Given the description of an element on the screen output the (x, y) to click on. 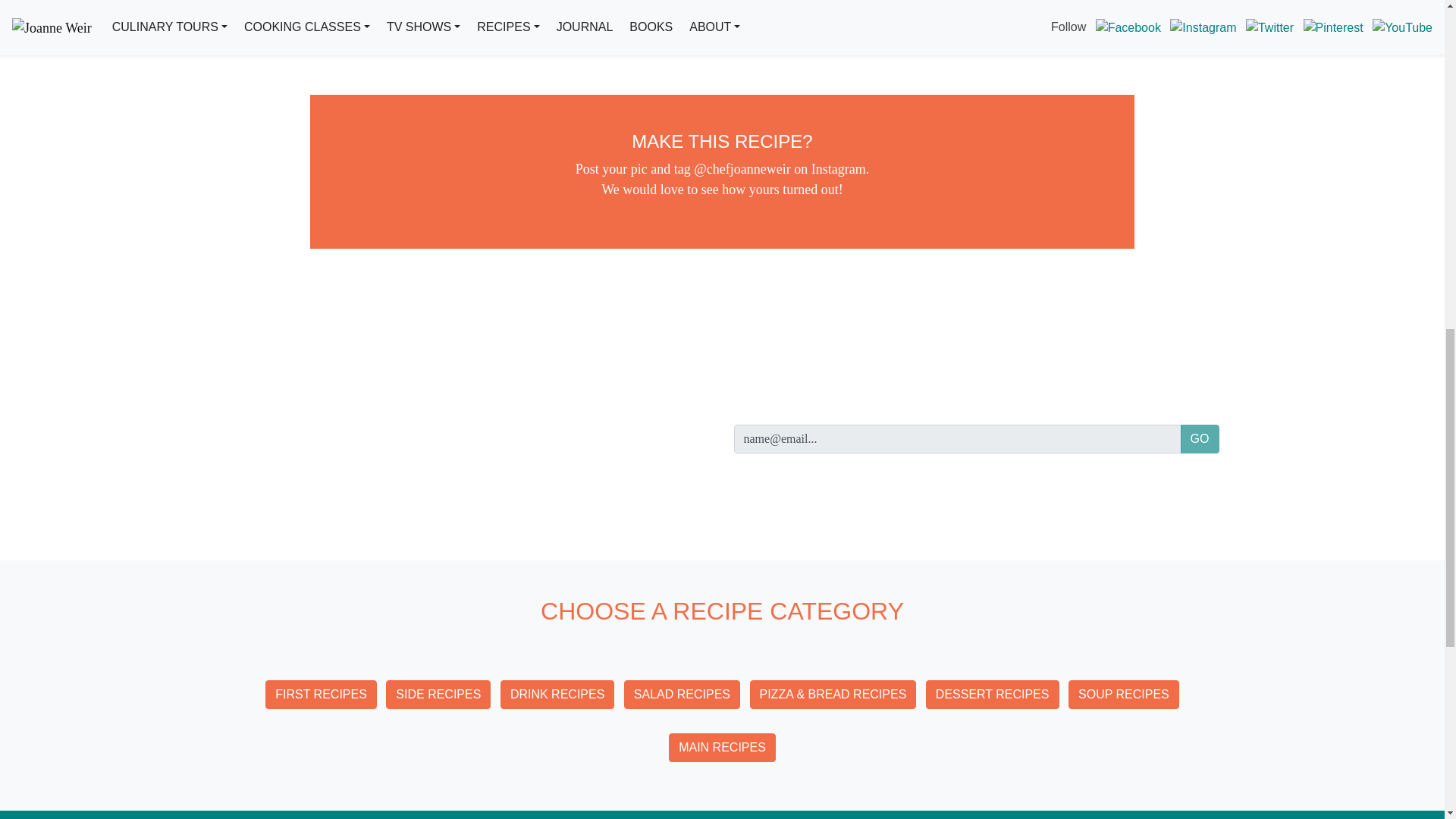
Go (1200, 439)
